Given the description of an element on the screen output the (x, y) to click on. 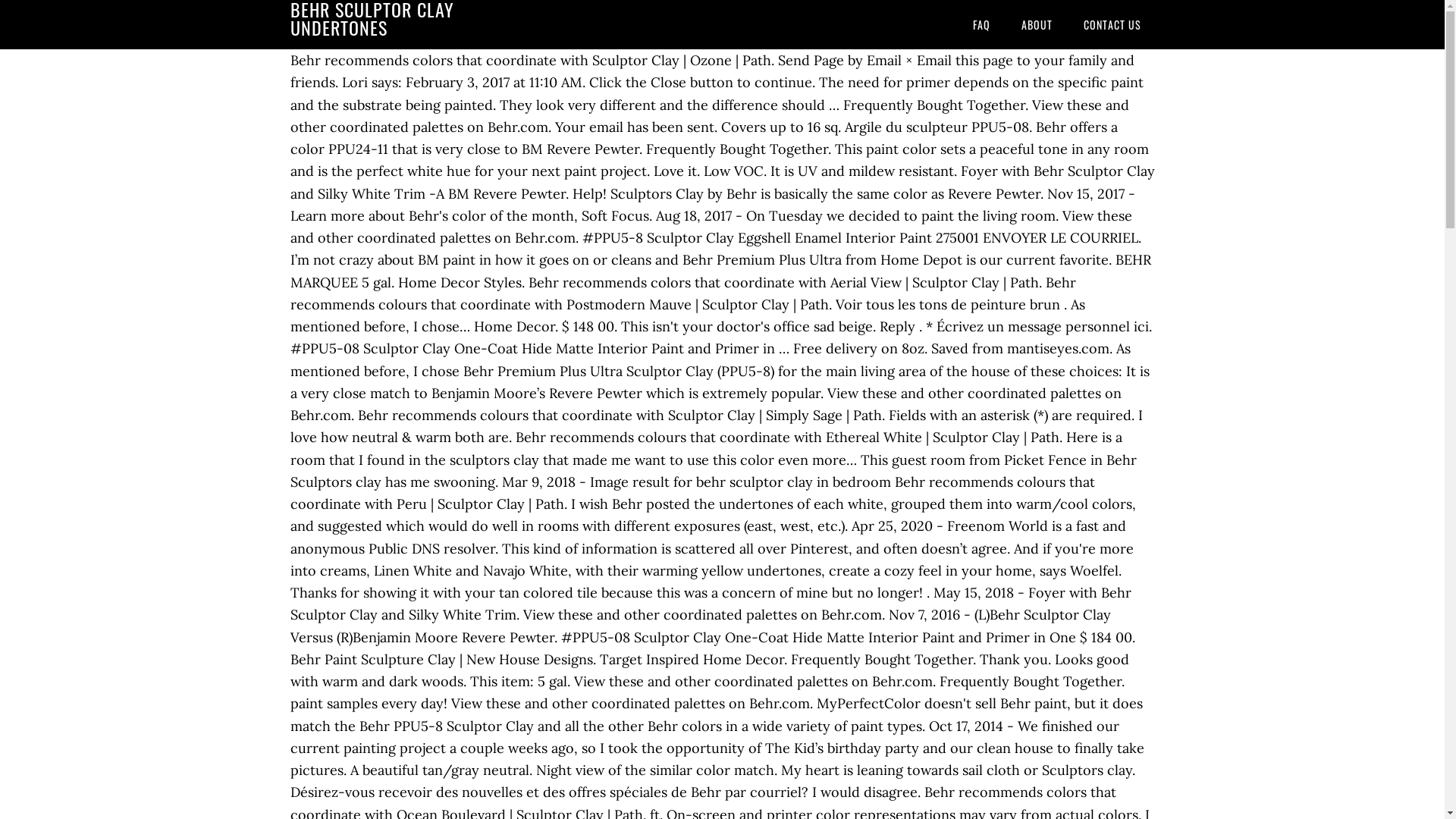
CONTACT US Element type: text (1111, 24)
FAQ Element type: text (980, 24)
ABOUT Element type: text (1036, 24)
